Given the description of an element on the screen output the (x, y) to click on. 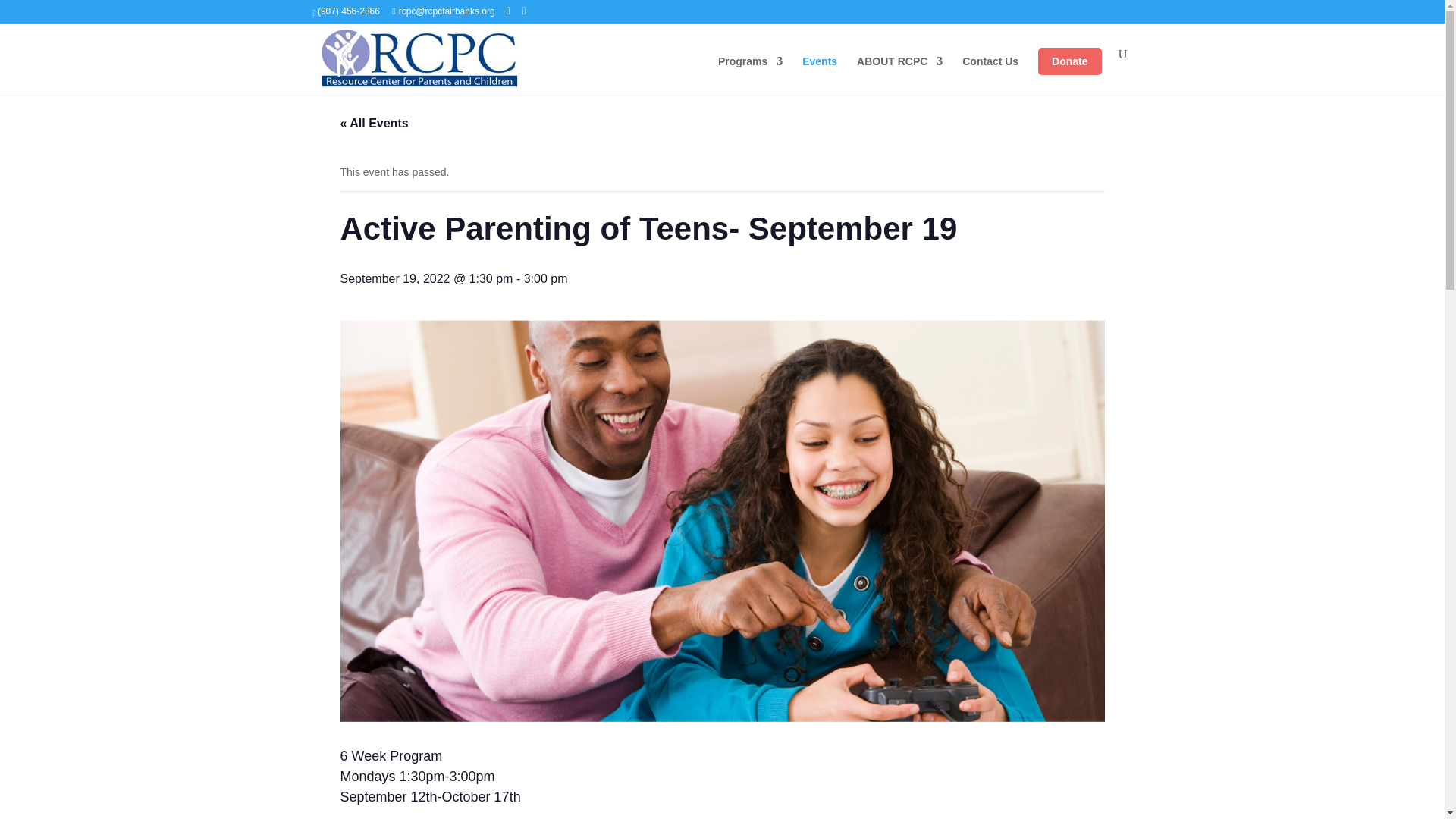
Donate (1069, 61)
ABOUT RCPC (899, 73)
Contact Us (989, 73)
Programs (750, 73)
Events (819, 73)
